Given the description of an element on the screen output the (x, y) to click on. 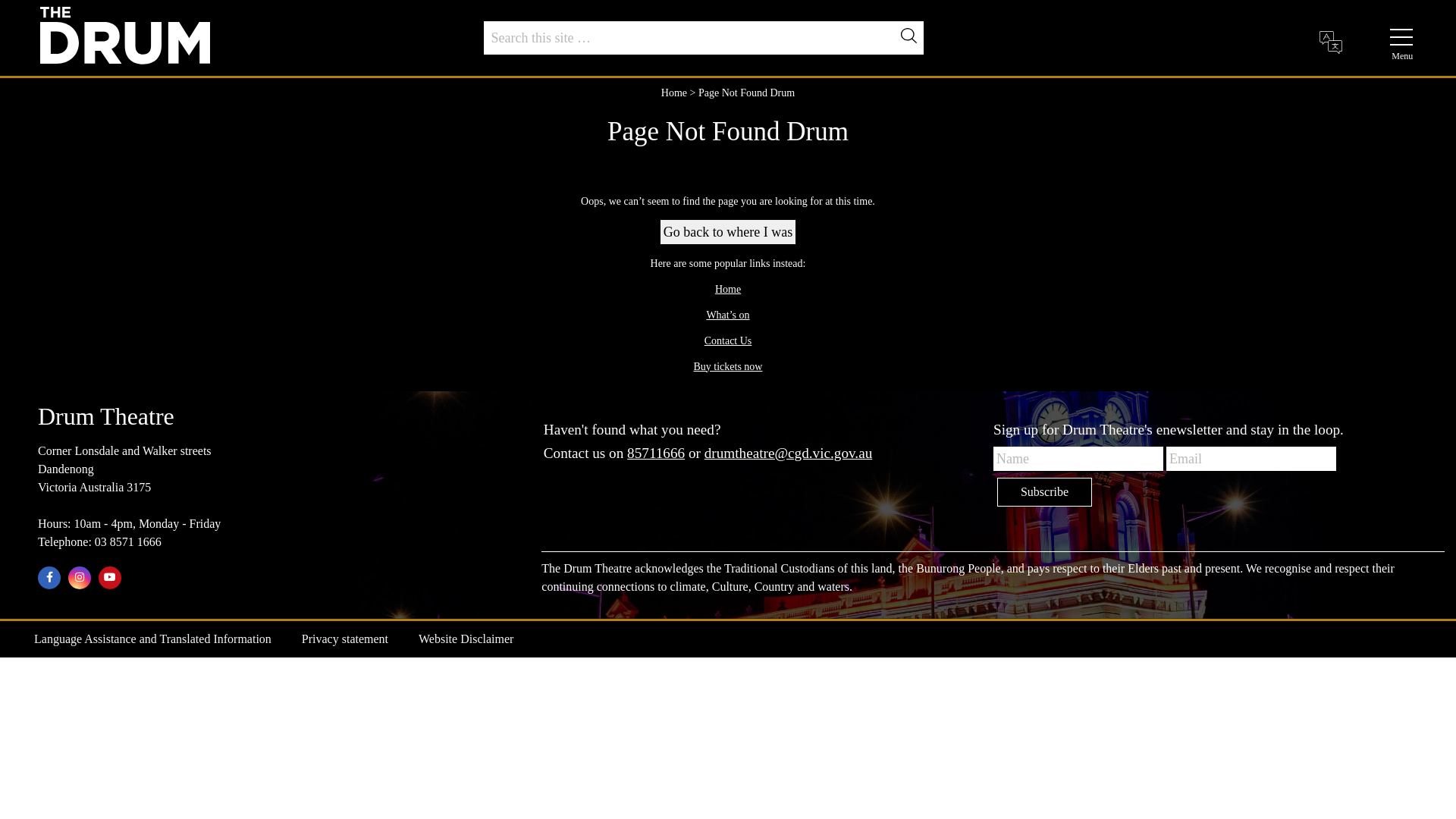
Home Element type: text (727, 288)
Go back to where I was Element type: text (727, 232)
Buy tickets now Element type: text (727, 366)
Search Element type: text (911, 39)
Subscribe Element type: text (1044, 491)
Contact Us Element type: text (728, 340)
Language Assistance and Translated Information Element type: text (152, 638)
85711666 Element type: text (655, 453)
Home Element type: hover (124, 34)
Privacy statement Element type: text (344, 638)
drumtheatre@cgd.vic.gov.au Element type: text (788, 453)
Website Disclaimer Element type: text (465, 638)
Skip to main content Element type: text (0, 0)
Home Element type: text (674, 92)
